Given the description of an element on the screen output the (x, y) to click on. 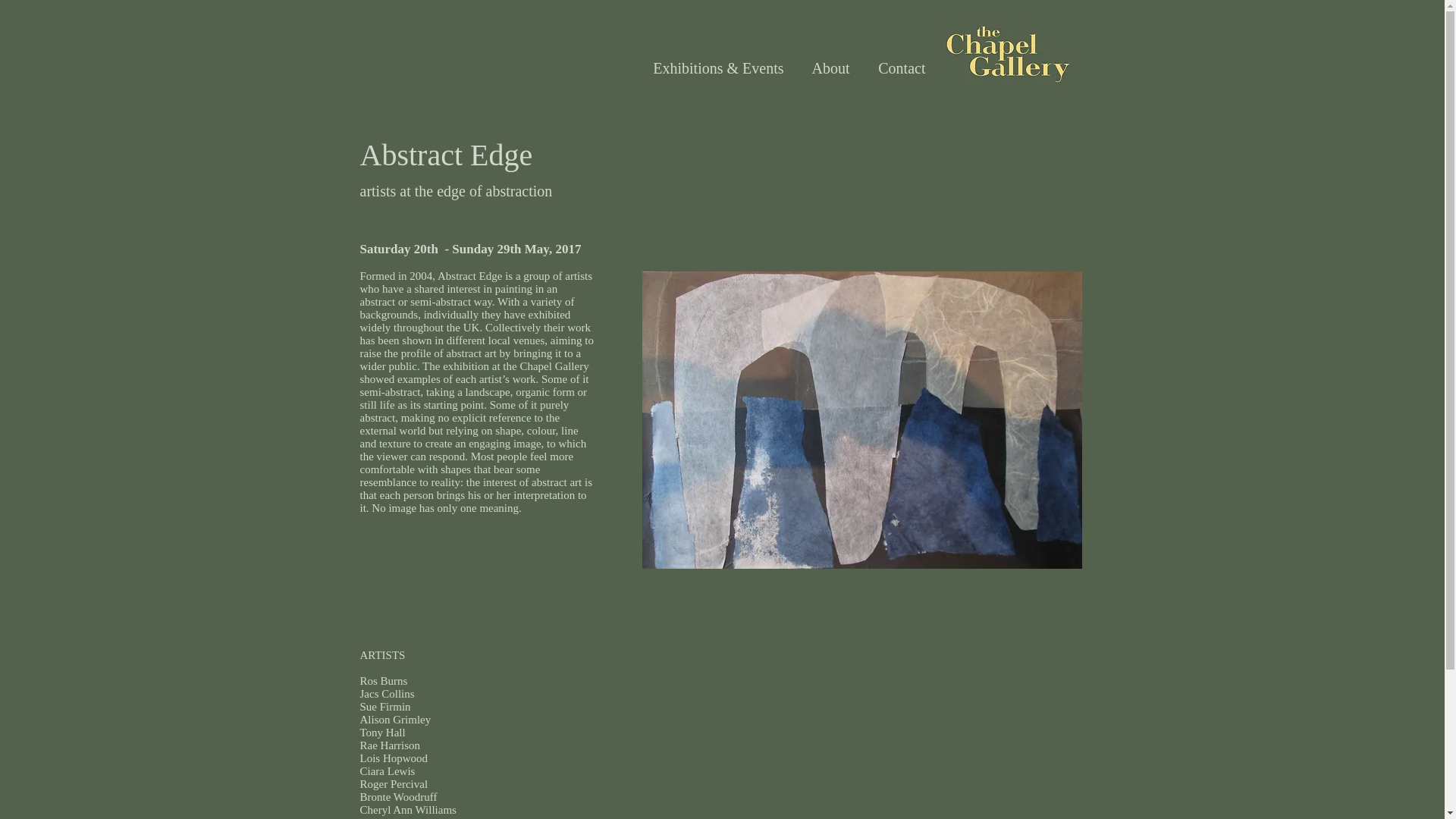
About (827, 68)
Event Tent (861, 419)
Contact (899, 68)
